Given the description of an element on the screen output the (x, y) to click on. 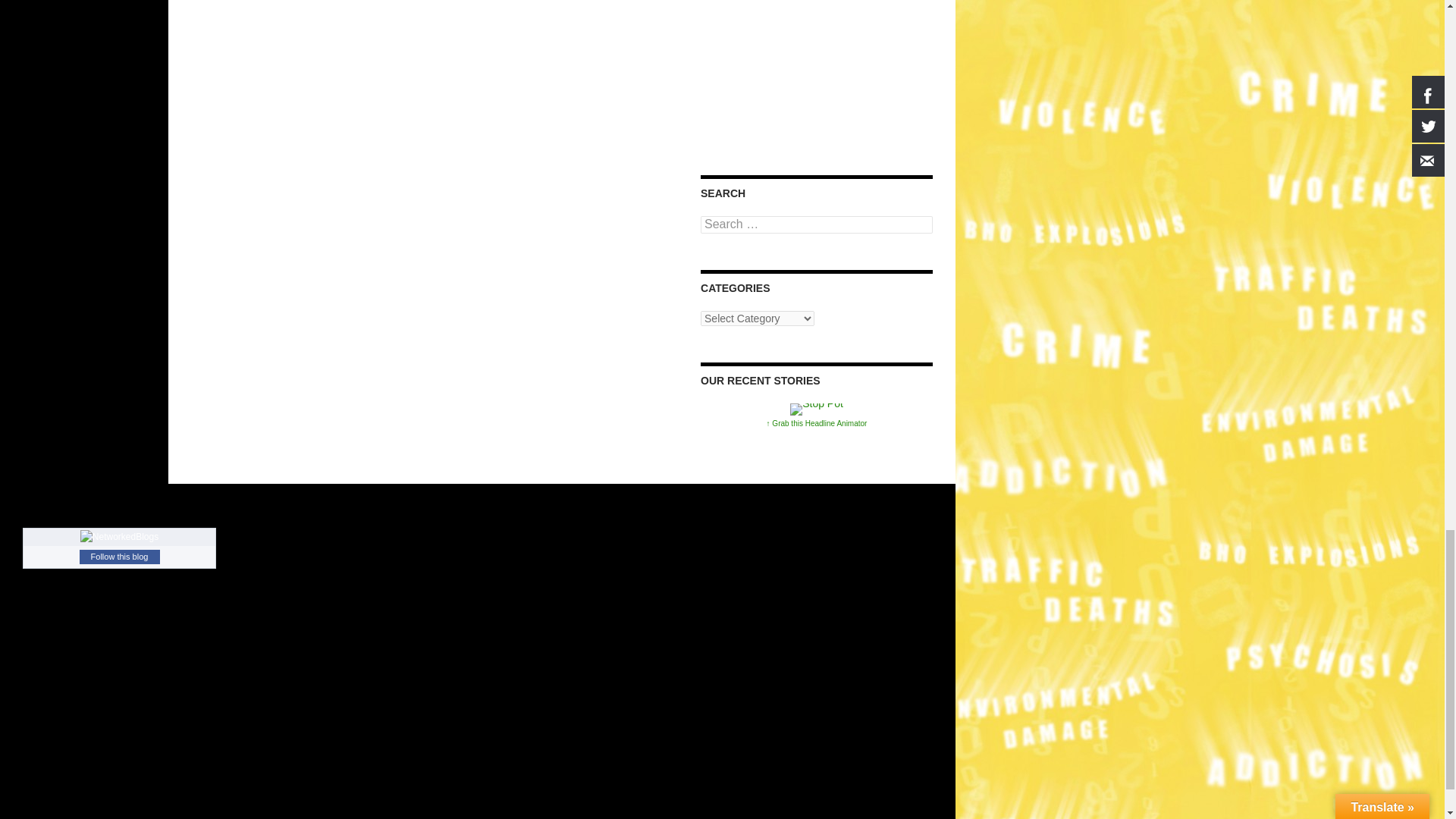
NetworkedBlogs (119, 536)
NetworkedBlogs (119, 535)
